Given the description of an element on the screen output the (x, y) to click on. 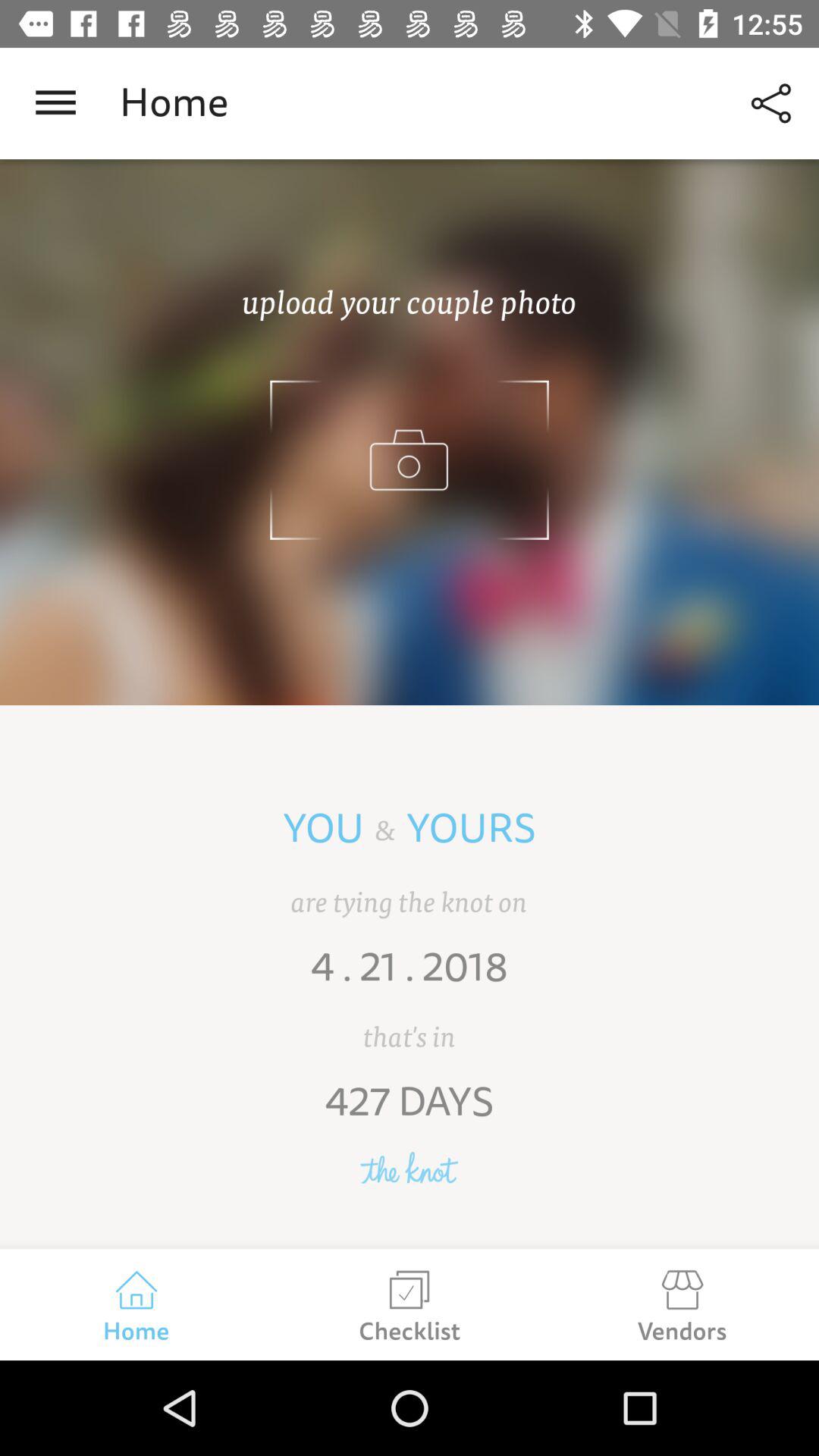
turn off item above the that's in (409, 977)
